Given the description of an element on the screen output the (x, y) to click on. 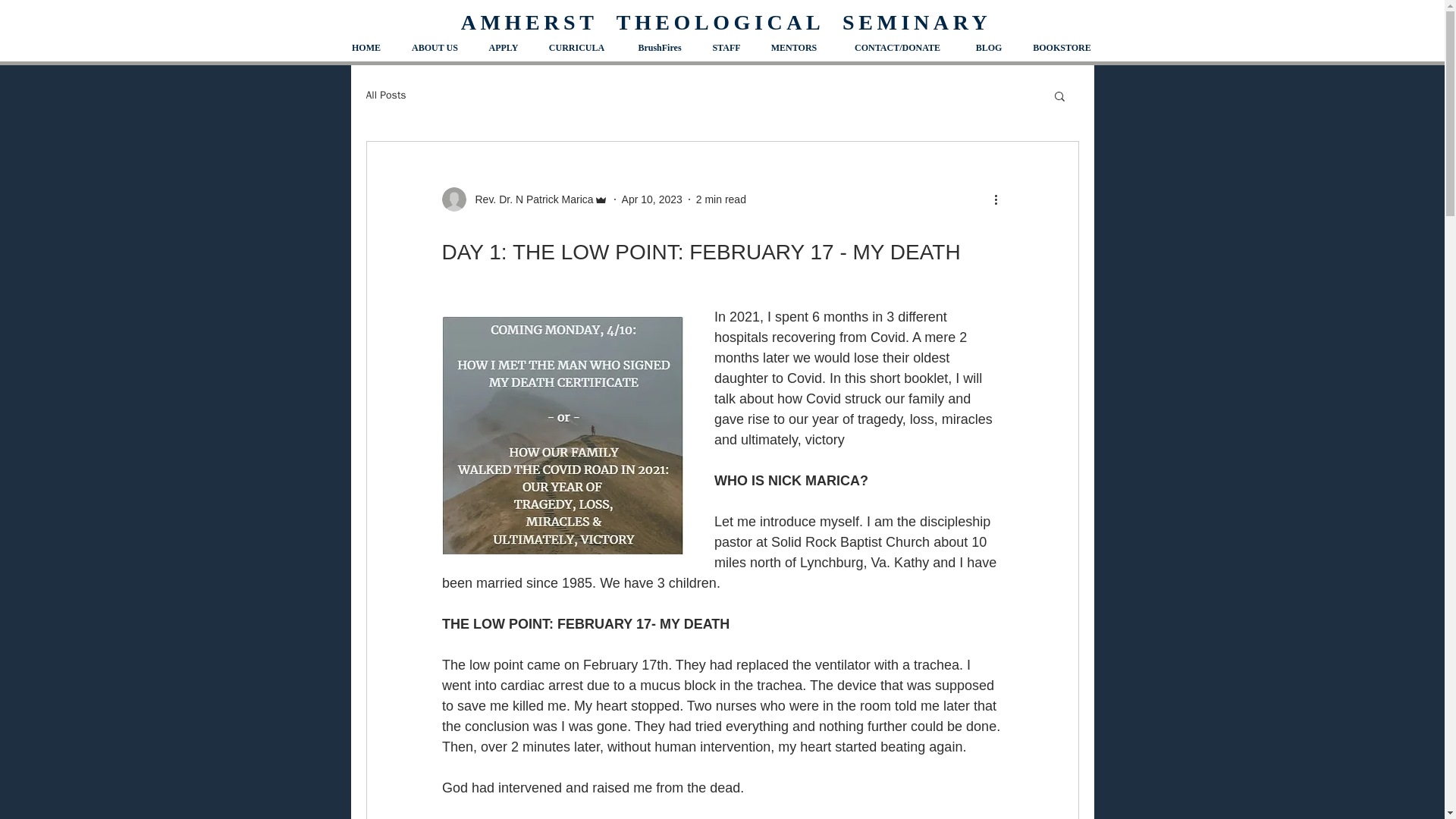
BLOG (988, 48)
APPLY (503, 48)
2 min read (720, 198)
Rev. Dr. N Patrick Marica (524, 199)
Rev. Dr. N Patrick Marica (528, 198)
MENTORS (793, 48)
AMHERST  THEOLOGICAL  SEMINARY (726, 22)
STAFF (725, 48)
BrushFires (658, 48)
BOOKSTORE (1062, 48)
ABOUT US (434, 48)
HOME (365, 48)
CURRICULA (576, 48)
All Posts (385, 95)
Apr 10, 2023 (651, 198)
